Given the description of an element on the screen output the (x, y) to click on. 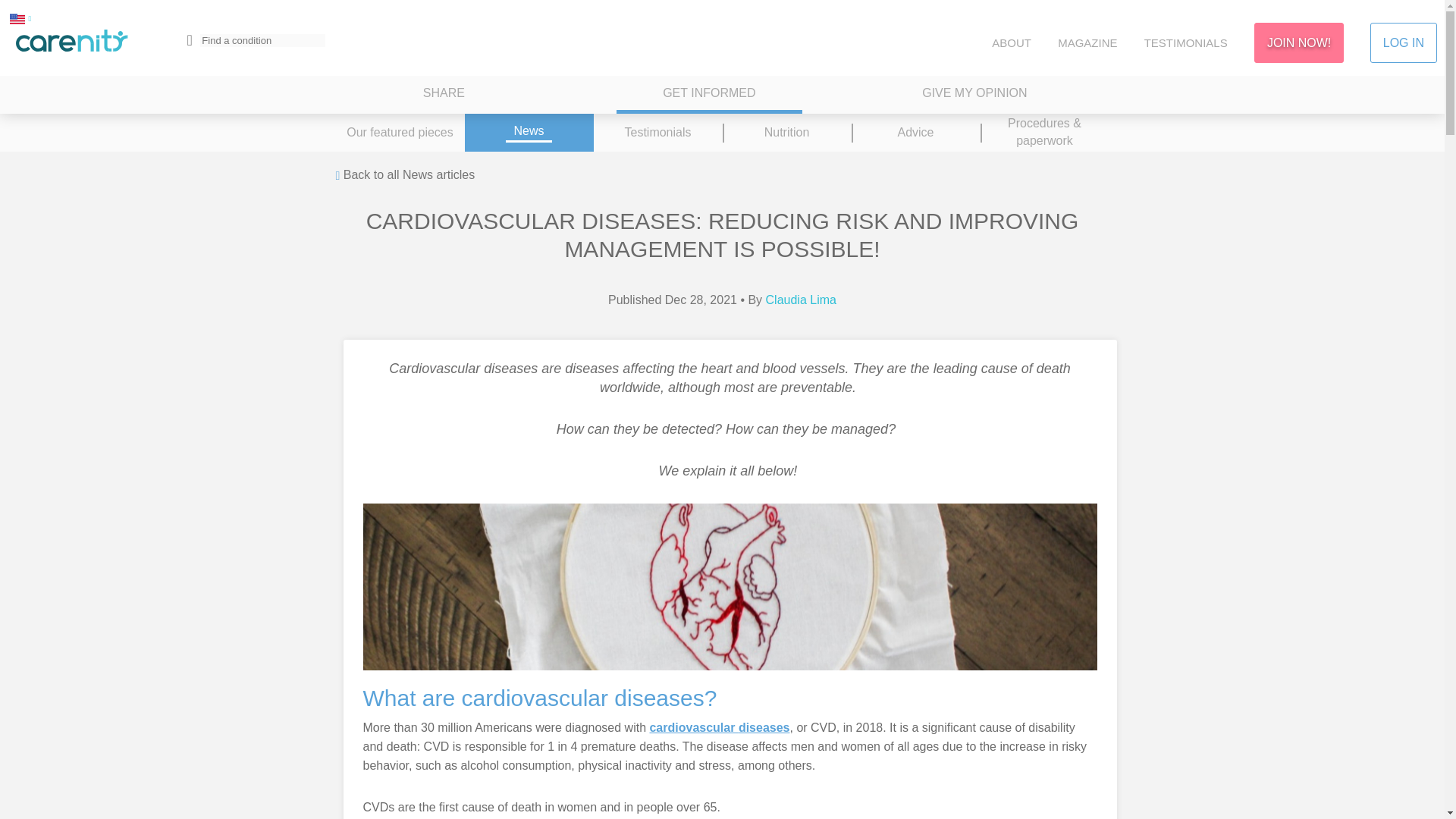
SHARE (443, 94)
GET INFORMED (708, 94)
Back to all News articles (404, 175)
diseases (764, 727)
USA (17, 18)
Nutrition (786, 132)
MAGAZINE (1087, 42)
Claudia Lima (800, 299)
Testimonials (657, 132)
LOG IN (1403, 42)
Our featured pieces (399, 132)
TESTIMONIALS (1185, 42)
ABOUT (1010, 42)
Advice (914, 132)
JOIN NOW! (1298, 42)
